Given the description of an element on the screen output the (x, y) to click on. 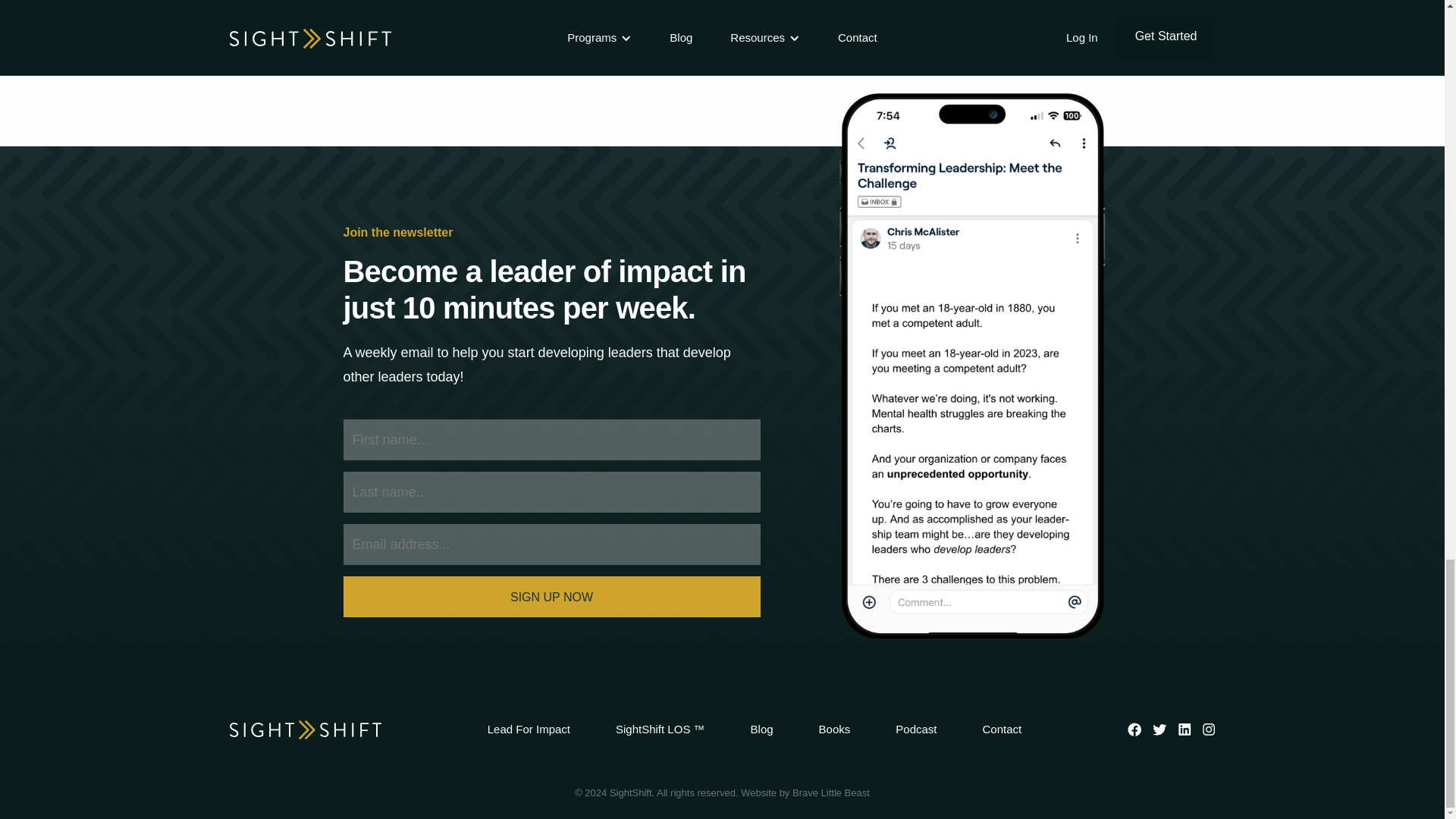
Brave Little Beast (830, 792)
SIGN UP NOW (551, 596)
Books (834, 729)
Lead For Impact (528, 729)
Podcast (915, 729)
Contact (1002, 729)
Blog (762, 729)
